Given the description of an element on the screen output the (x, y) to click on. 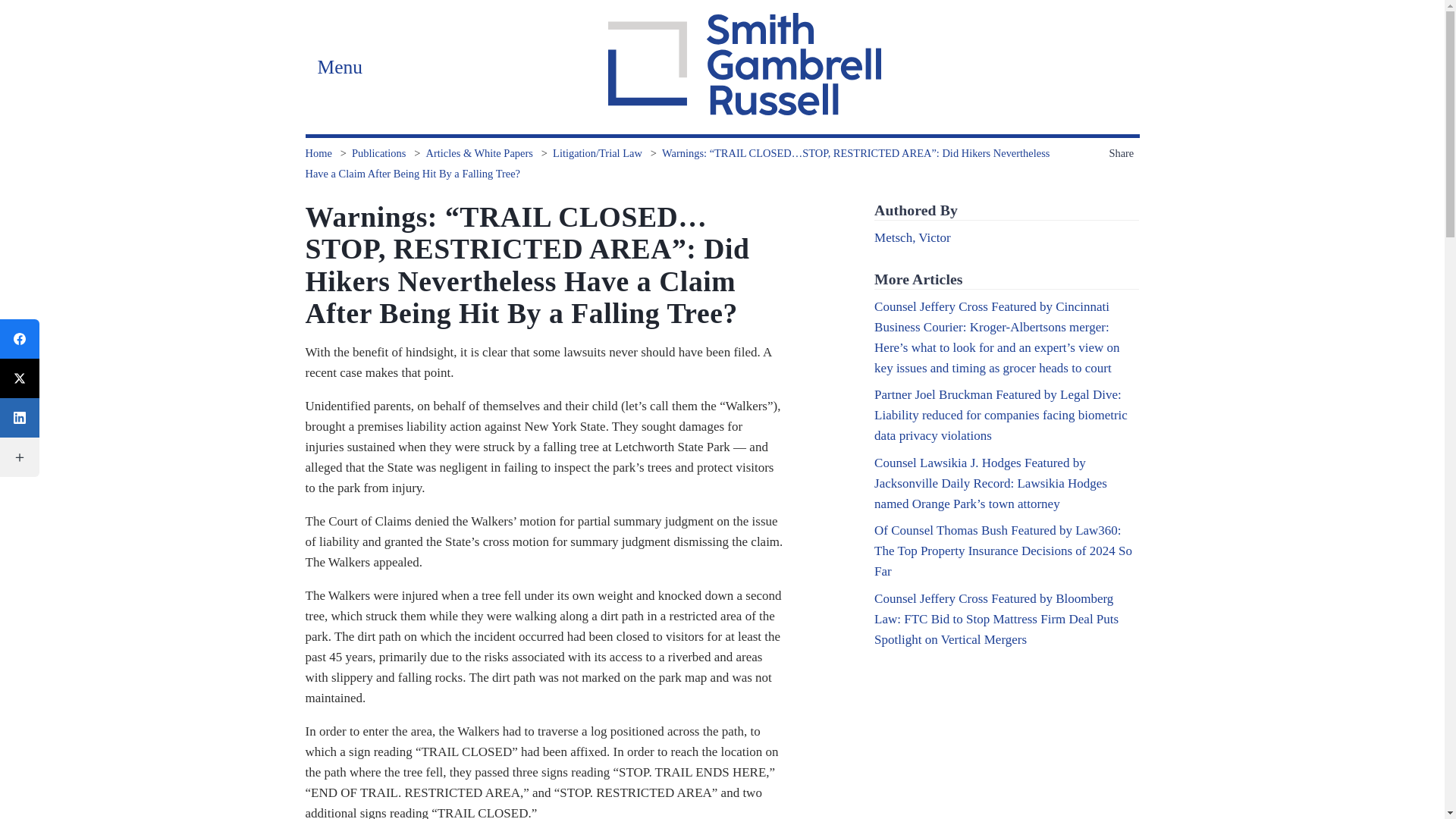
Menu (339, 67)
Metsch, Victor (912, 237)
Publications (379, 152)
Home (317, 152)
Share (1123, 153)
